Given the description of an element on the screen output the (x, y) to click on. 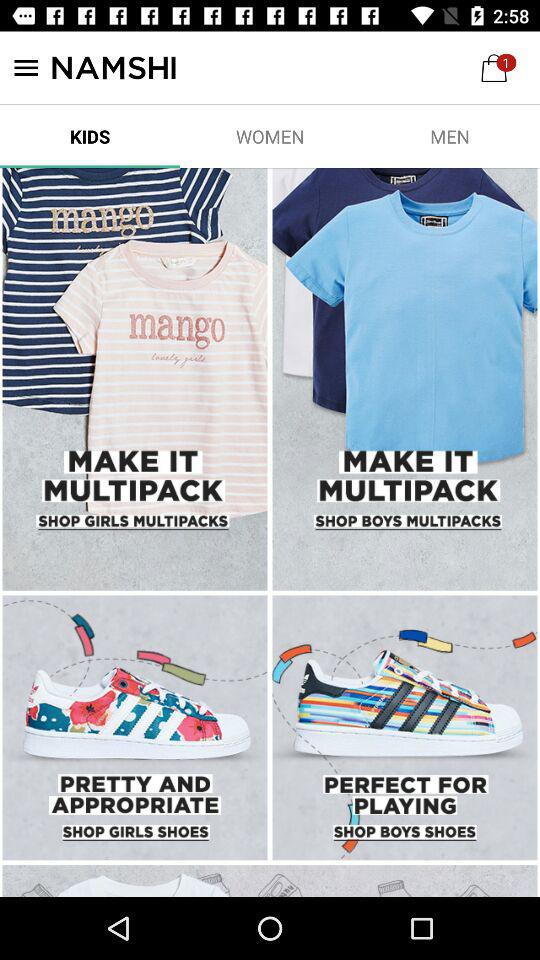
jump until women (270, 136)
